Given the description of an element on the screen output the (x, y) to click on. 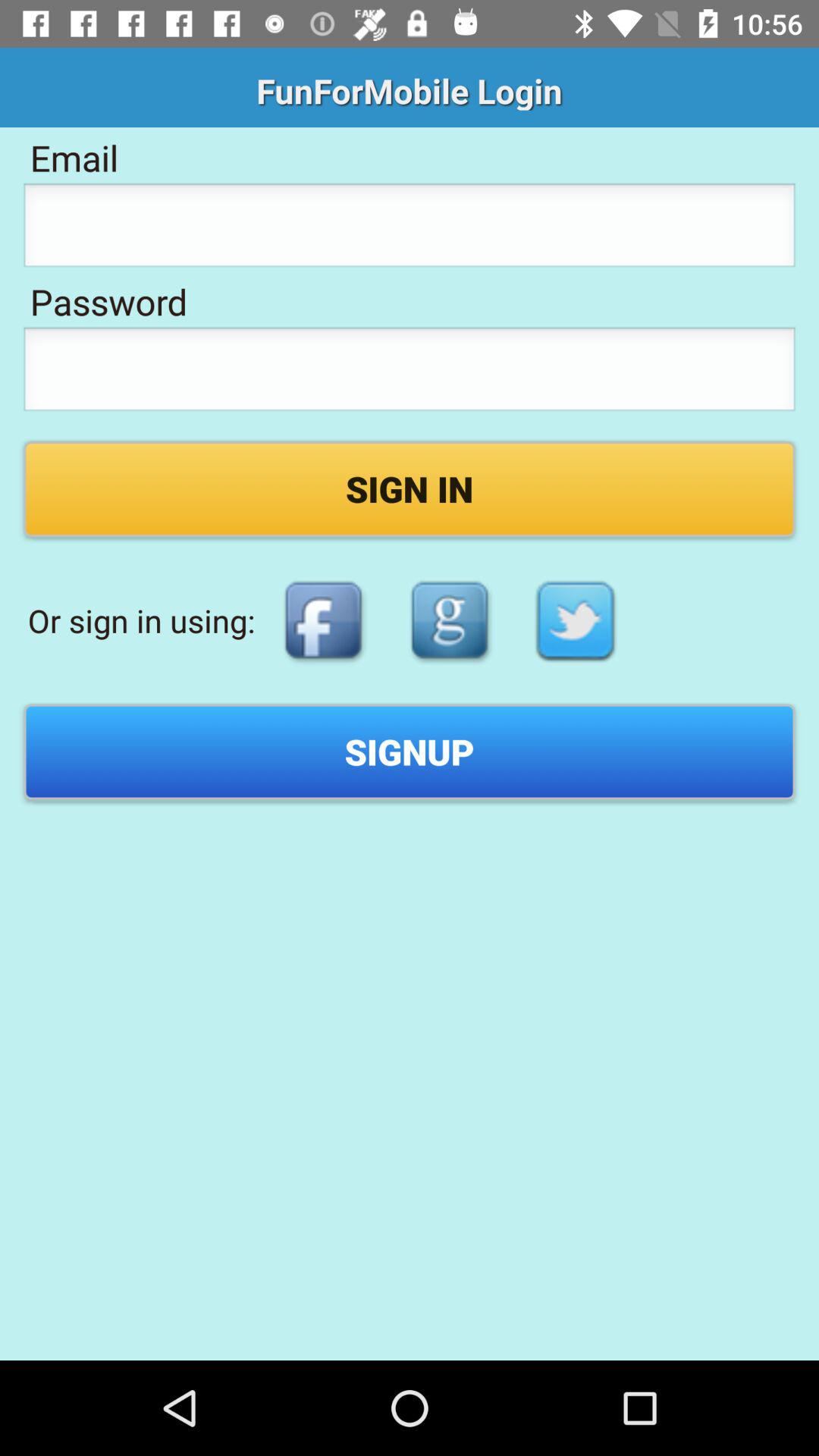
enter email id (409, 229)
